Given the description of an element on the screen output the (x, y) to click on. 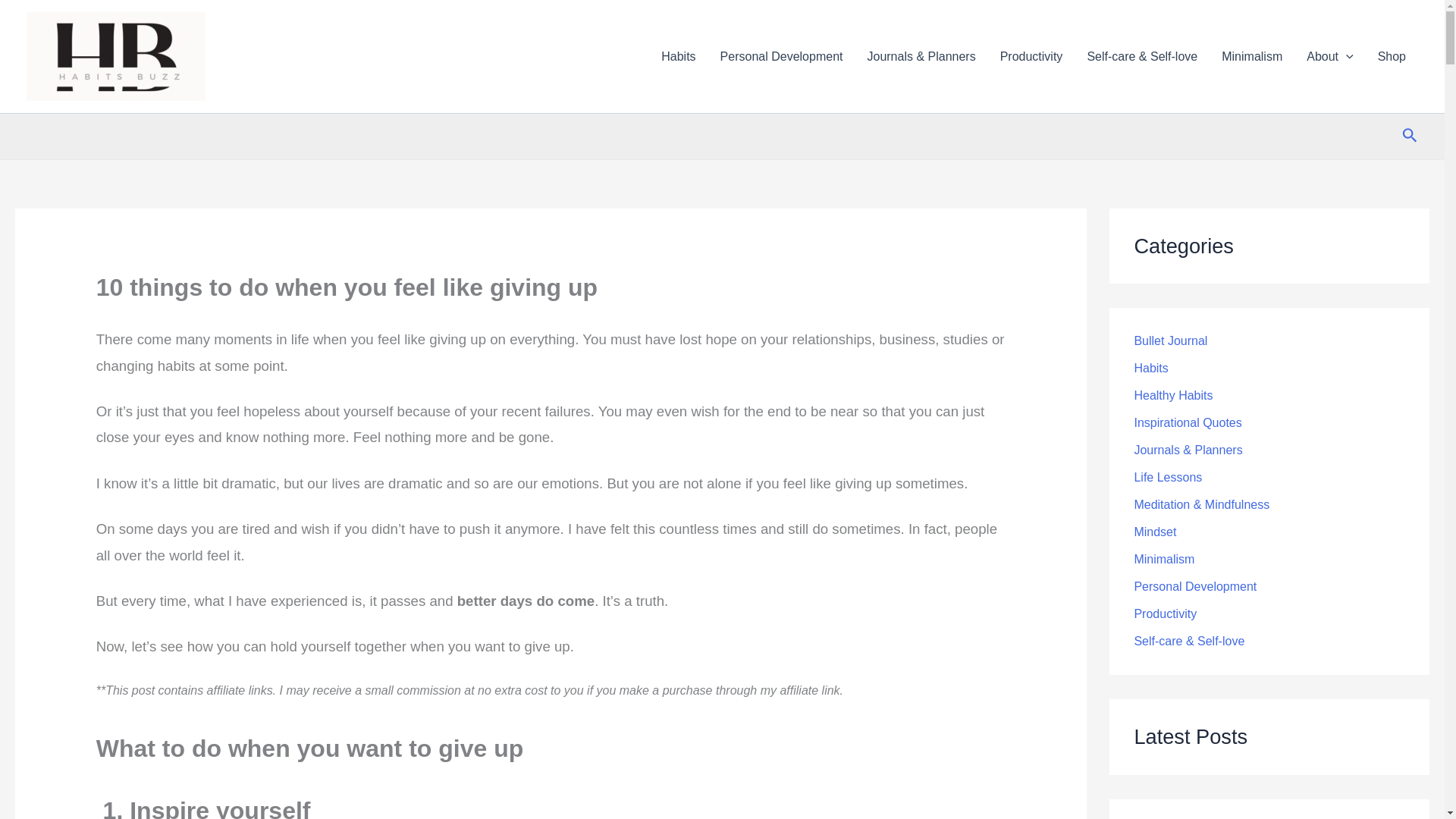
Minimalism (1251, 55)
Productivity (1031, 55)
Personal Development (781, 55)
About (1329, 55)
Habits (678, 55)
Shop (1391, 55)
